Given the description of an element on the screen output the (x, y) to click on. 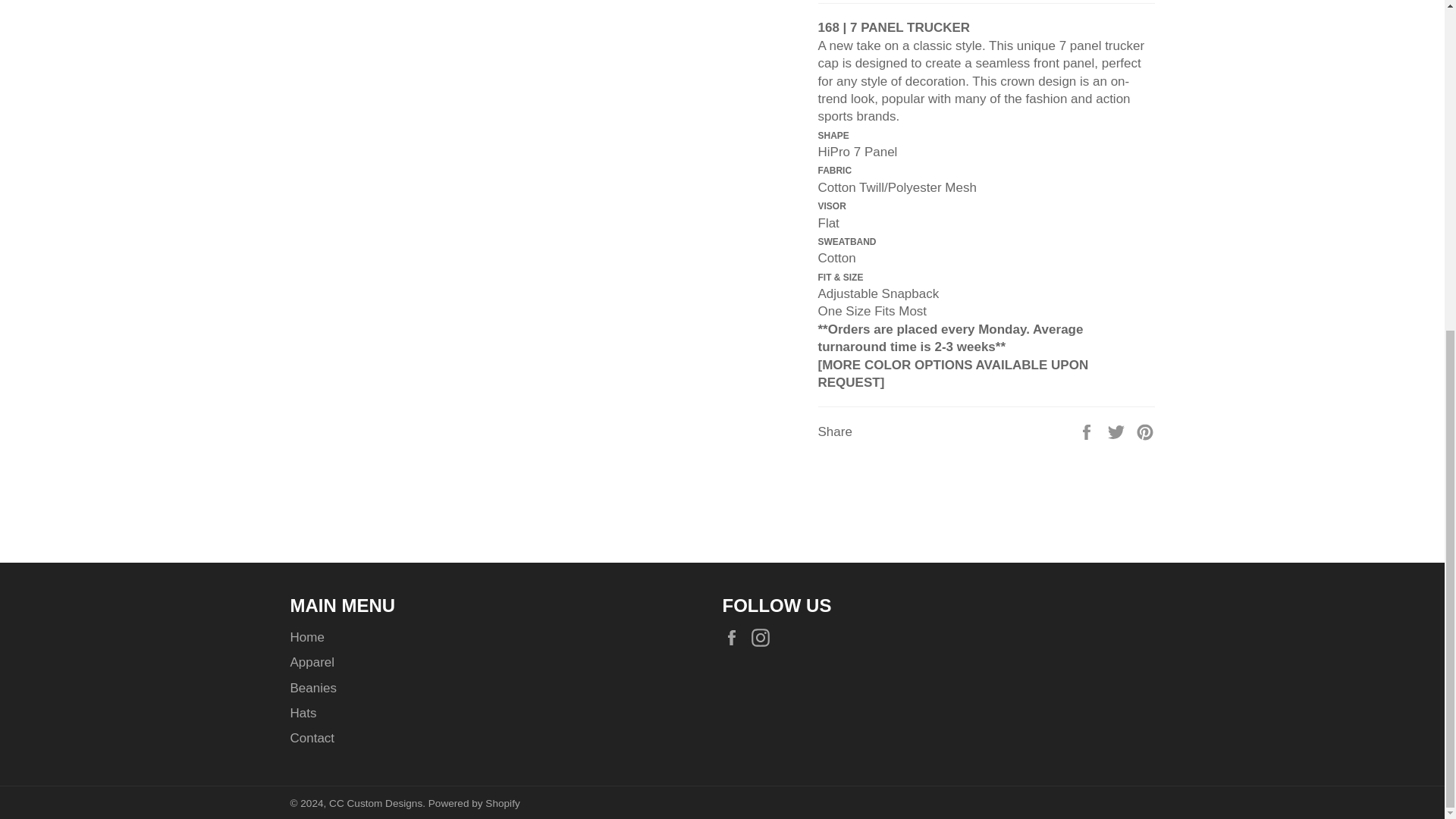
CC Custom Designs on Instagram (764, 637)
Tweet on Twitter (1117, 431)
Share on Facebook (1088, 431)
Pin on Pinterest (1144, 431)
CC Custom Designs on Facebook (735, 637)
